Given the description of an element on the screen output the (x, y) to click on. 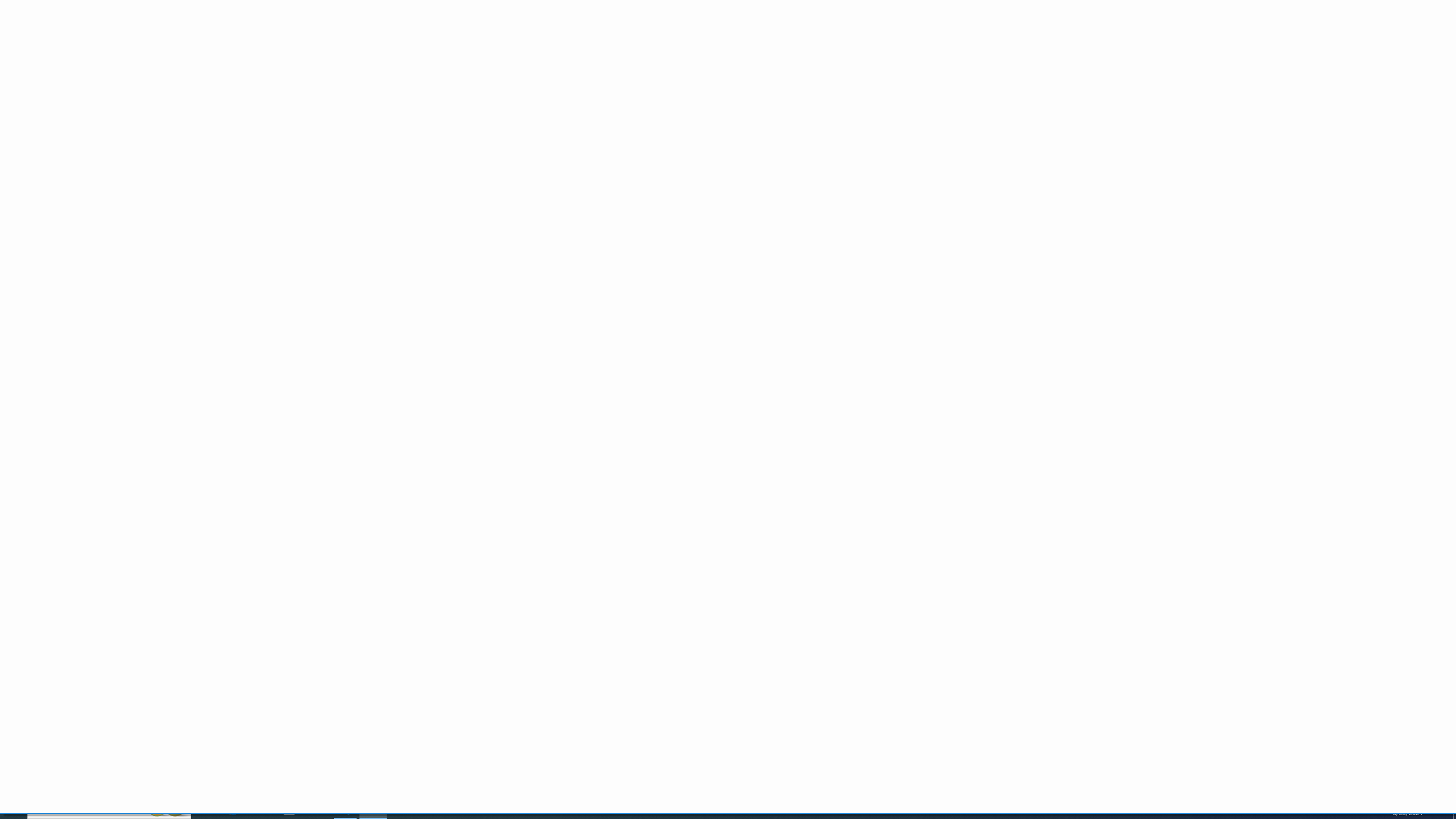
Accounting Number Format (426, 67)
Bottom Border (157, 67)
Italic (118, 67)
Format Cell Font (247, 85)
Microsoft search (742, 9)
Restore Down (1416, 9)
Format (962, 58)
Input (731, 65)
Copy (45, 58)
